Given the description of an element on the screen output the (x, y) to click on. 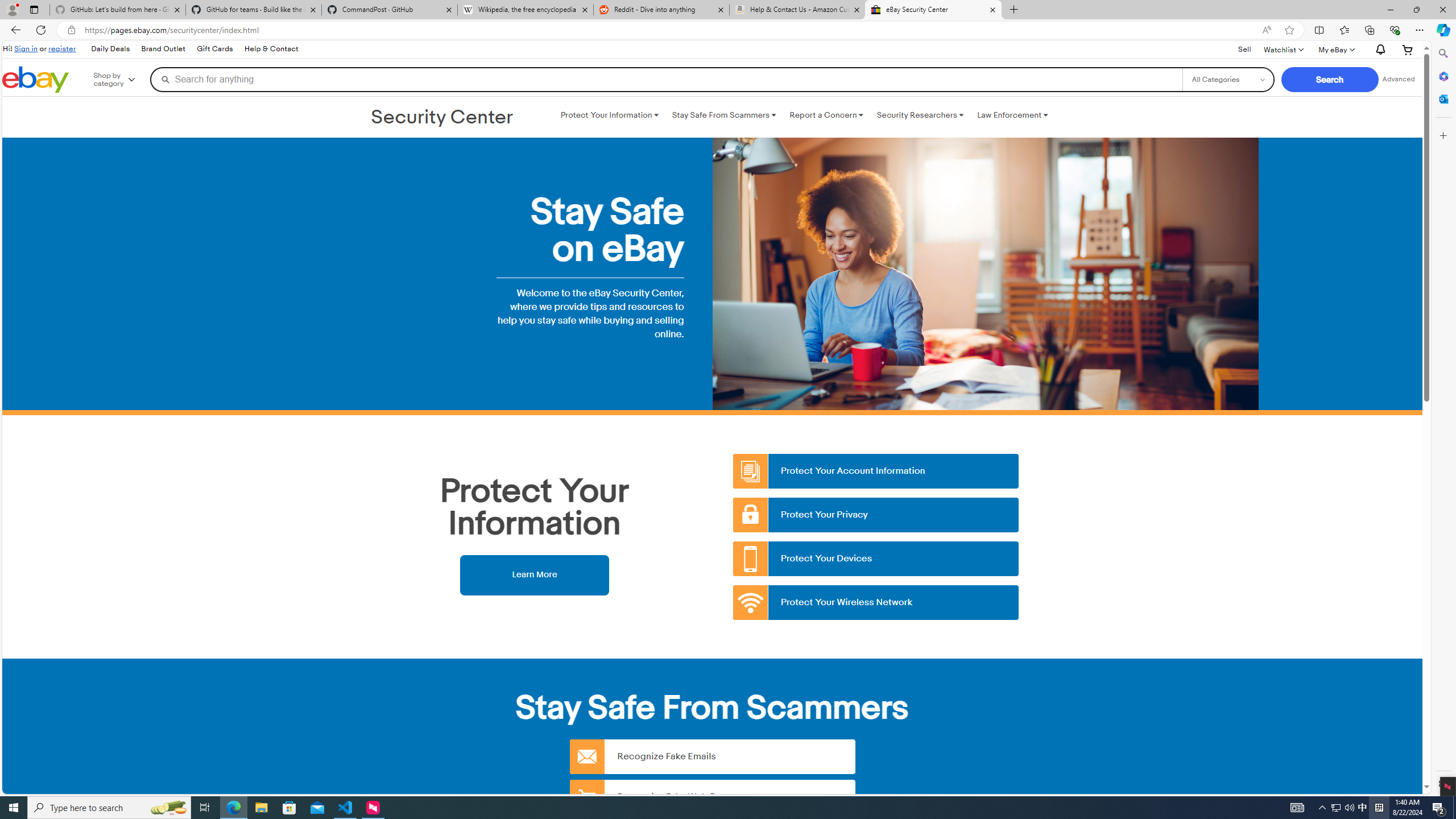
Law Enforcement  (1012, 115)
Advanced Search (1398, 78)
Protect Your Devices (876, 558)
register (61, 48)
Report a Concern  (826, 115)
Report a Concern  (826, 115)
eBay Home (35, 79)
Side bar (1443, 418)
